Given the description of an element on the screen output the (x, y) to click on. 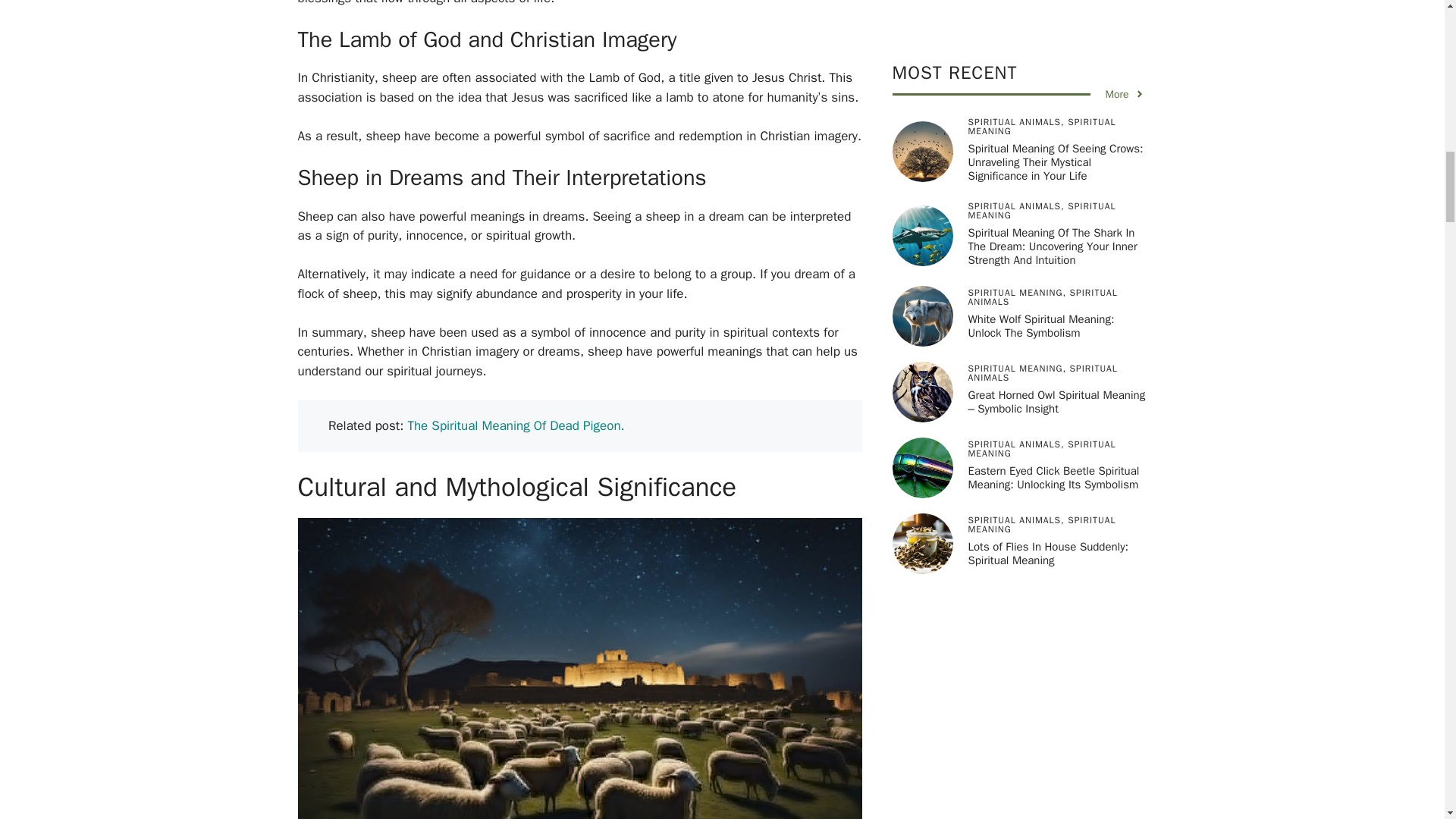
The Spiritual Meaning Of Dead Pigeon. (515, 425)
